Given the description of an element on the screen output the (x, y) to click on. 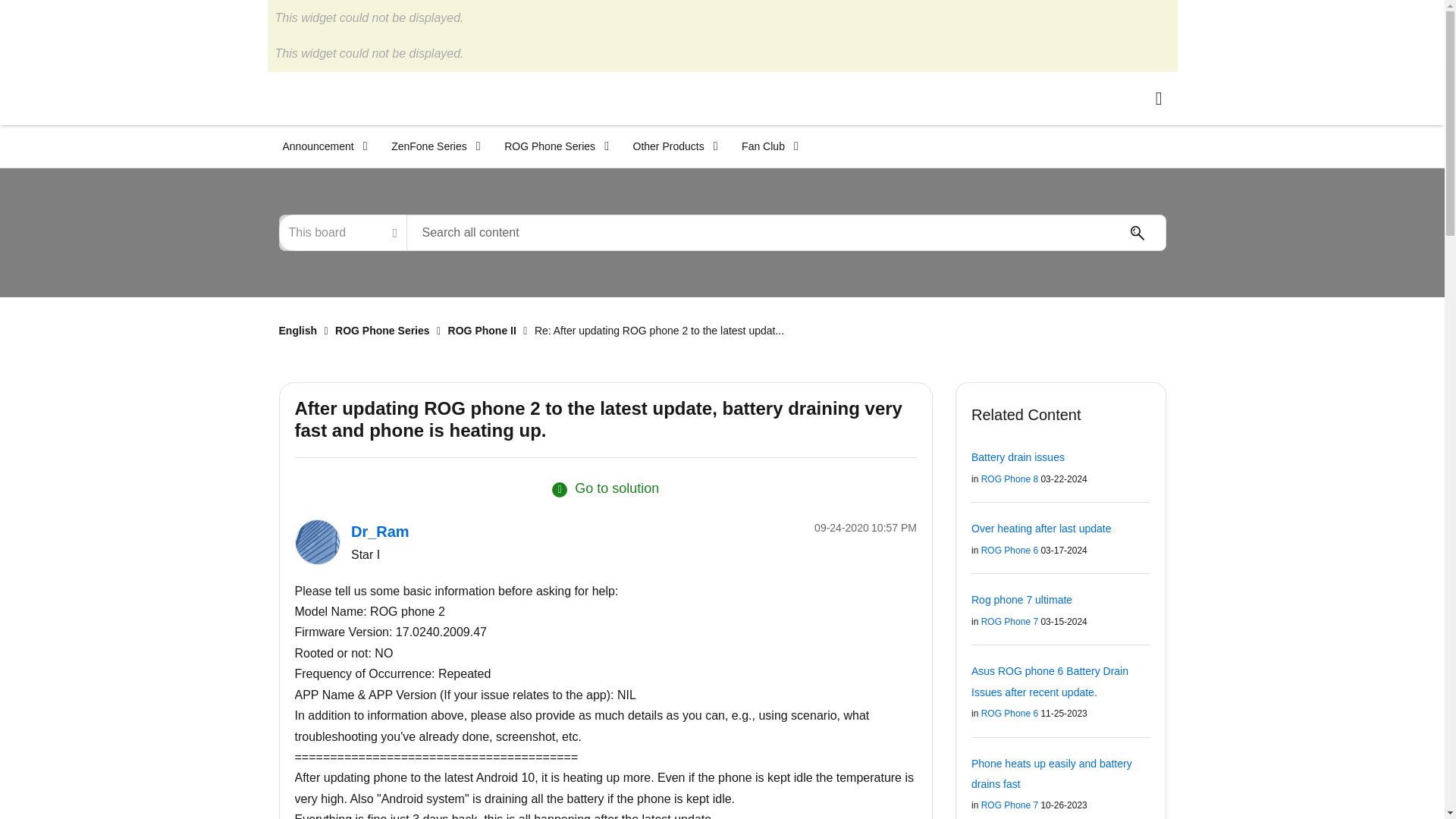
Search Granularity (342, 232)
Other Products (669, 146)
ROG Phone Series (551, 146)
Search (1136, 232)
Search (1136, 232)
Search (786, 232)
Announcement (319, 146)
ASUS - ZenTalk (357, 97)
ZenFone Series (430, 146)
